Given the description of an element on the screen output the (x, y) to click on. 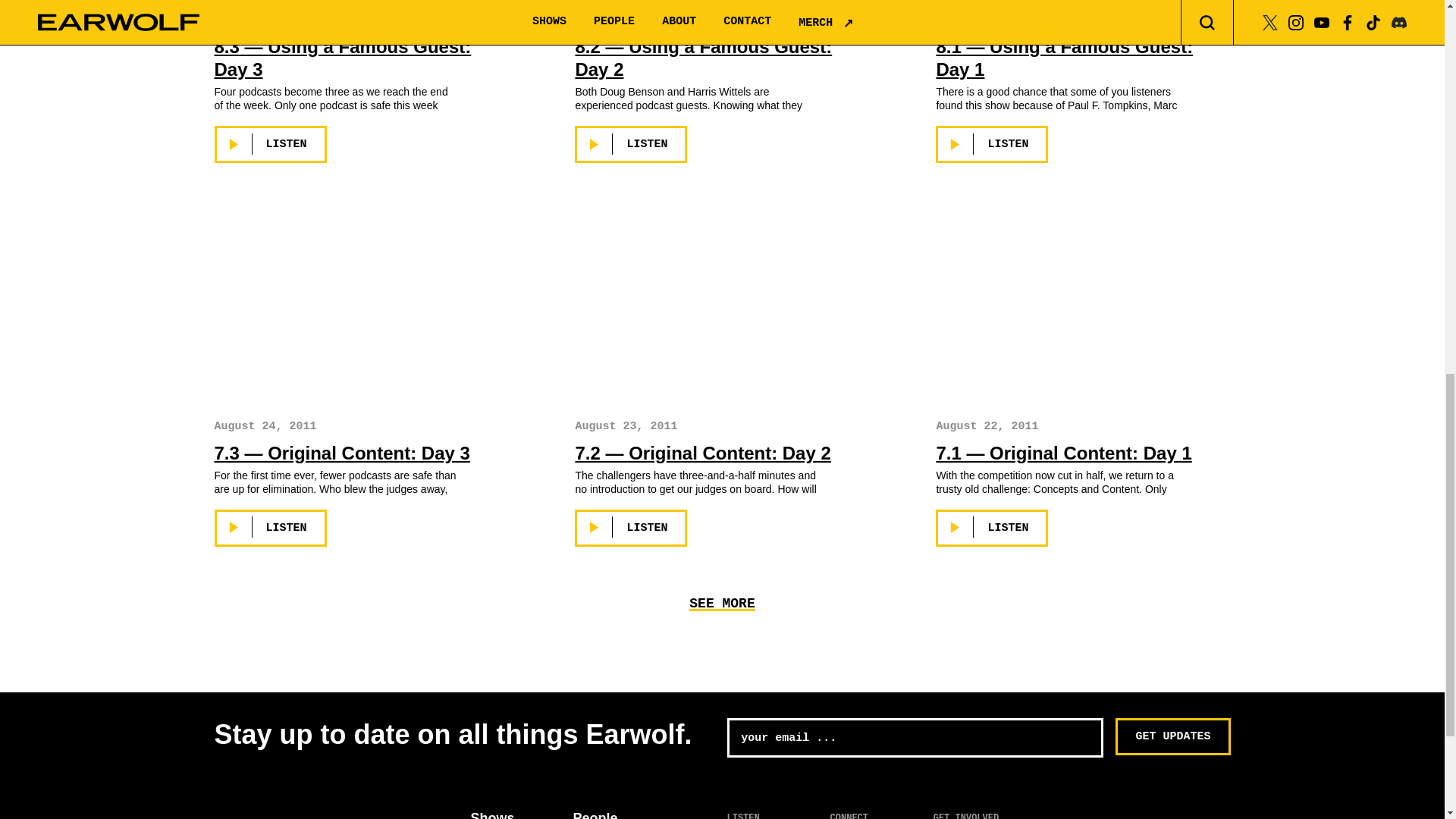
LISTEN (270, 144)
Earwolf (283, 816)
LISTEN (631, 528)
LISTEN (992, 528)
LISTEN (270, 528)
LISTEN (631, 144)
LISTEN (992, 144)
Get Updates (1172, 736)
